Given the description of an element on the screen output the (x, y) to click on. 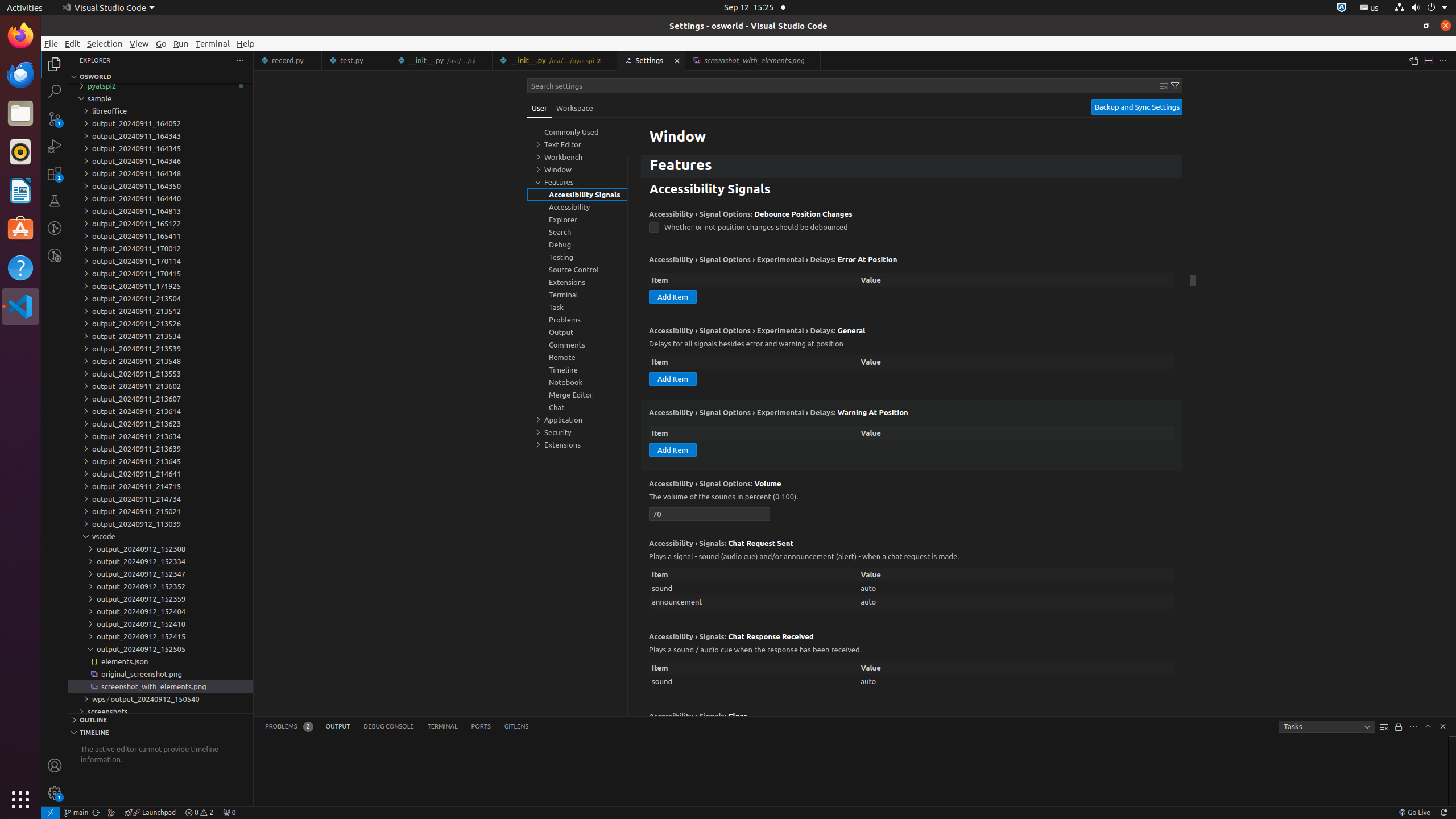
Terminal (Ctrl+`) Element type: page-tab (442, 726)
remote Element type: push-button (50, 812)
Features Element type: tree-item (911, 166)
output_20240912_152415 Element type: tree-item (160, 636)
output_20240911_213504 Element type: tree-item (160, 298)
